Given the description of an element on the screen output the (x, y) to click on. 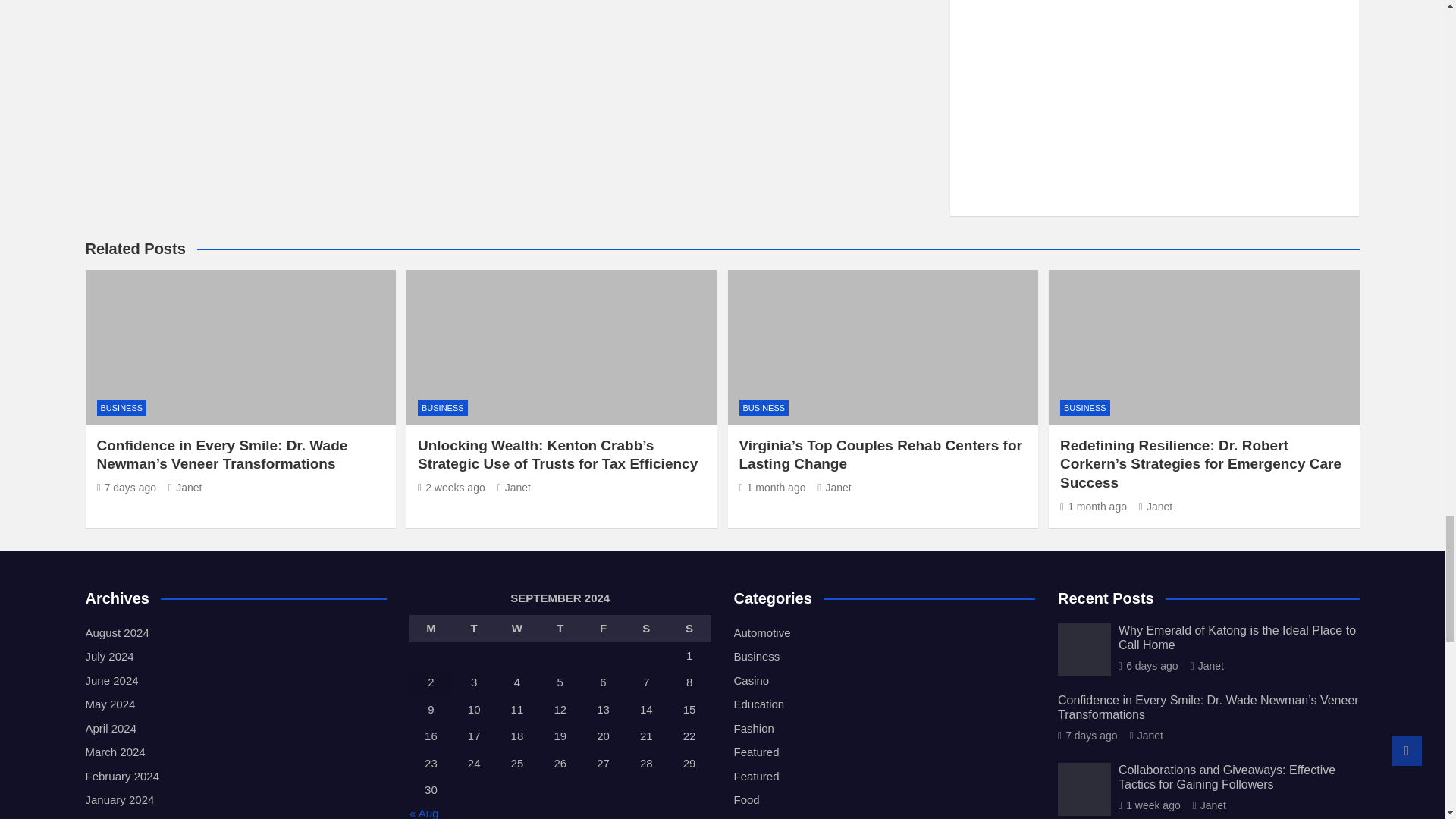
Why Emerald of Katong is the Ideal Place to Call Home (1147, 665)
Sunday (689, 628)
Wednesday (517, 628)
Friday (602, 628)
Thursday (559, 628)
Tuesday (474, 628)
Monday (430, 628)
Saturday (646, 628)
